Given the description of an element on the screen output the (x, y) to click on. 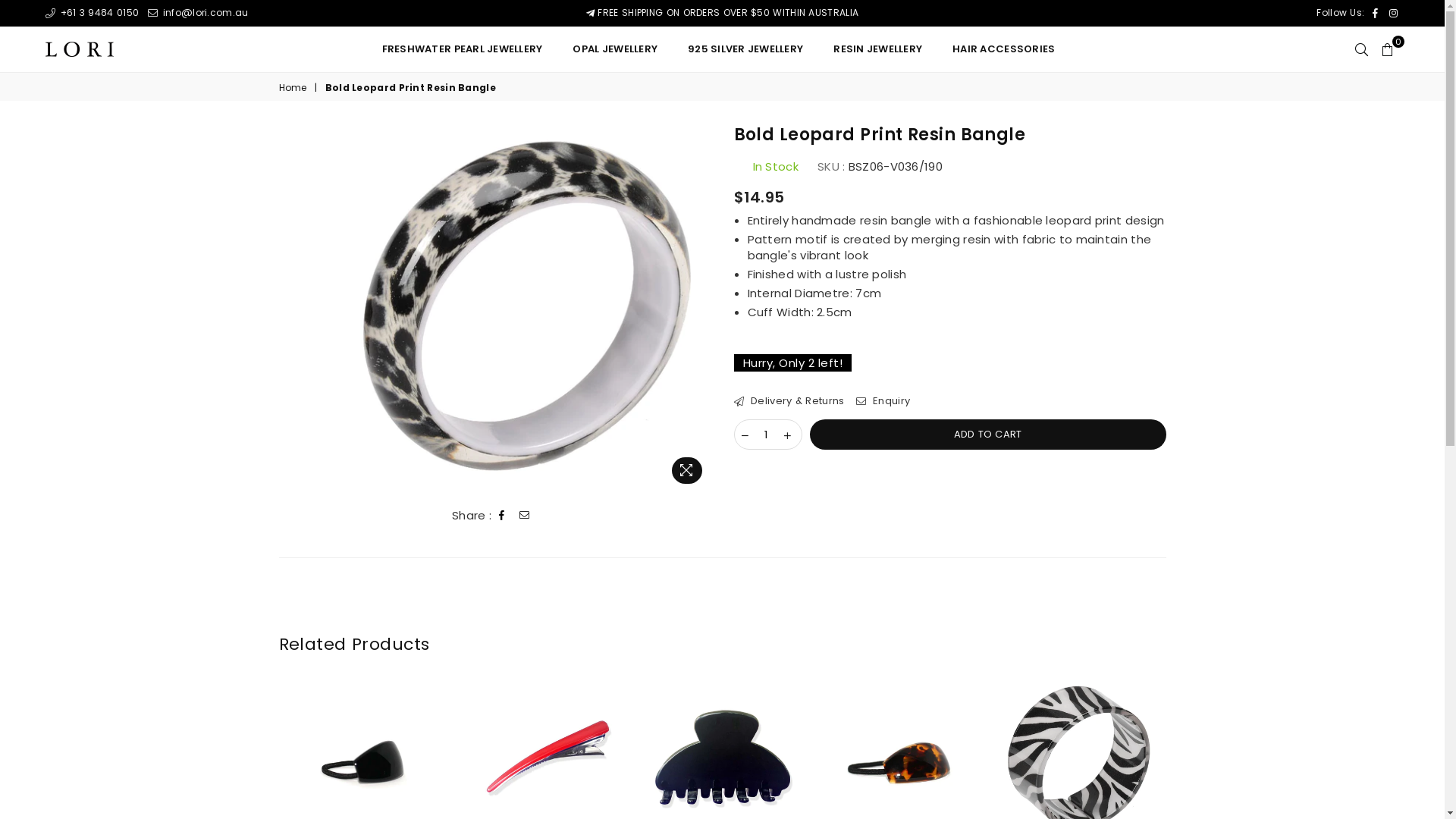
ADD TO CART Element type: text (987, 434)
RESIN JEWELLERY Element type: text (877, 49)
Lori Element type: text (109, 48)
OPAL JEWELLERY Element type: text (614, 49)
Share on Facebook Element type: hover (501, 515)
FRESHWATER PEARL JEWELLERY Element type: text (462, 49)
Home Element type: text (294, 87)
Quantity Element type: hover (768, 434)
Share by Email Element type: hover (524, 515)
0 Element type: text (1387, 48)
info@lori.com.au Element type: text (197, 12)
Enquiry Element type: text (883, 400)
Facebook Element type: text (1375, 13)
Instagram Element type: text (1392, 13)
+61 3 9484 0150 Element type: text (91, 12)
925 SILVER JEWELLERY Element type: text (745, 49)
HAIR ACCESSORIES Element type: text (1003, 49)
Delivery & Returns Element type: text (789, 400)
Search Element type: hover (1361, 48)
